Given the description of an element on the screen output the (x, y) to click on. 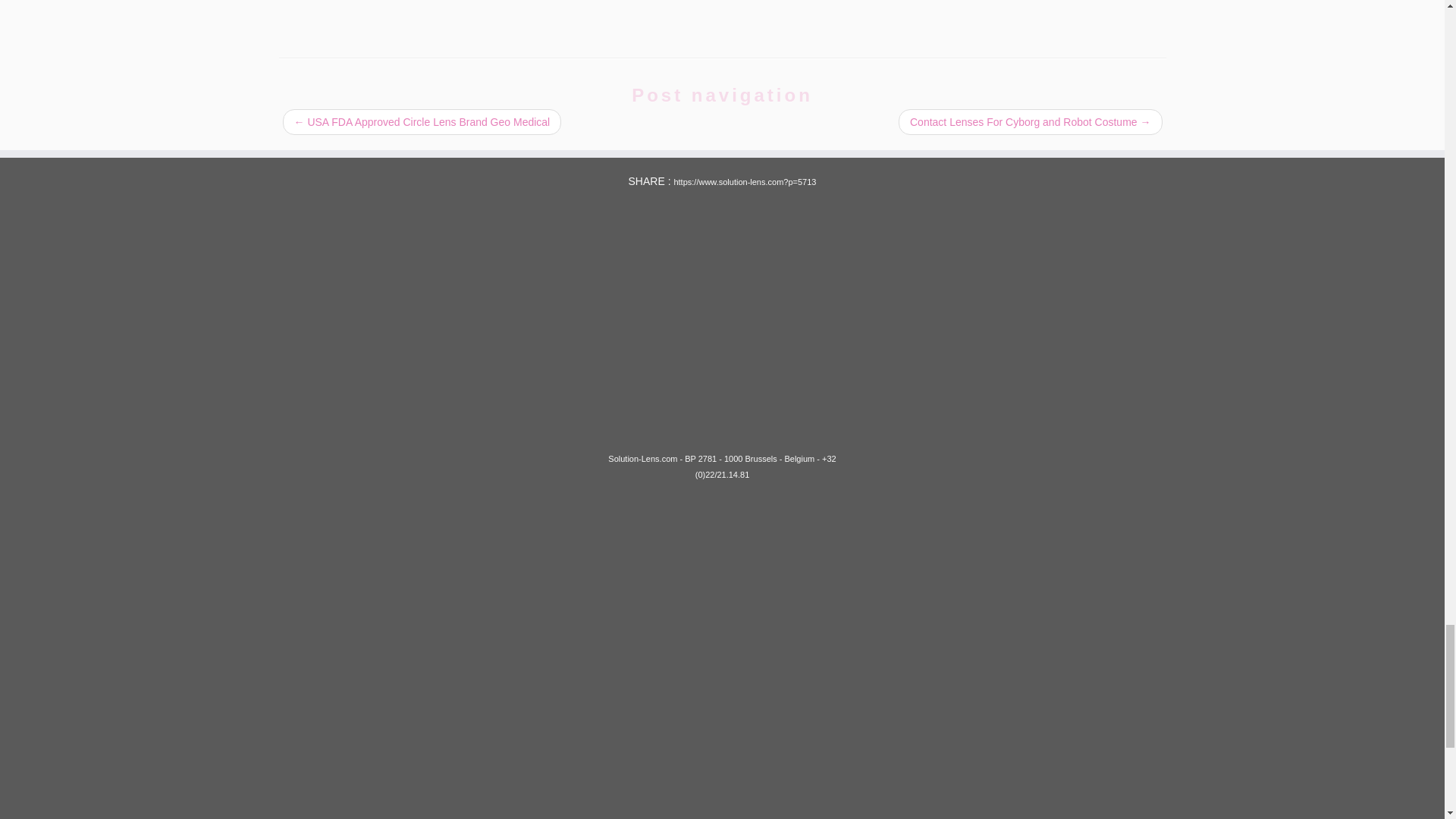
Red Eyed Tree Frog Contact Lenses (722, 13)
Buy Now (418, 228)
Buy Now (1024, 228)
